Given the description of an element on the screen output the (x, y) to click on. 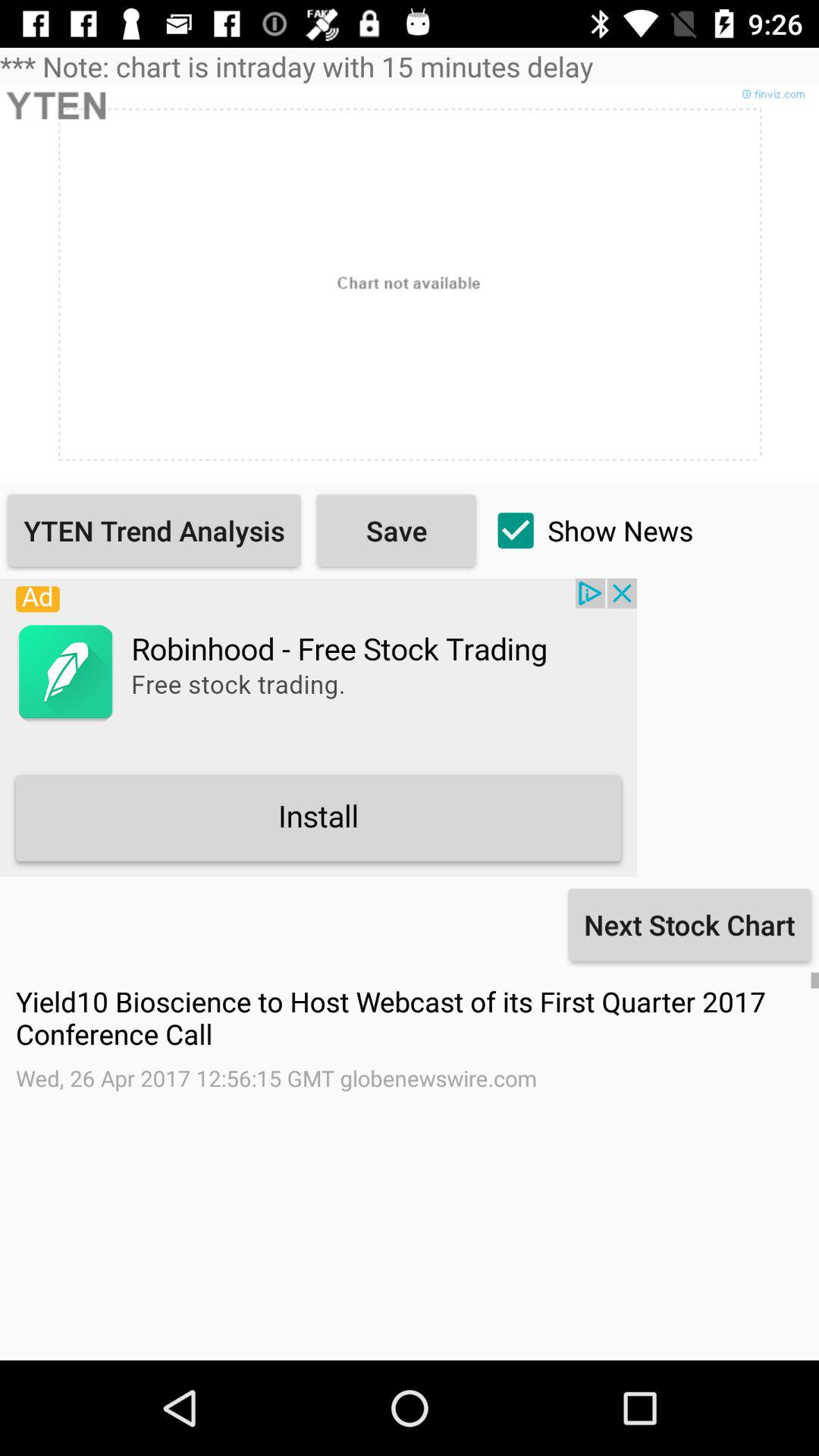
go to advertising partner (318, 727)
